Given the description of an element on the screen output the (x, y) to click on. 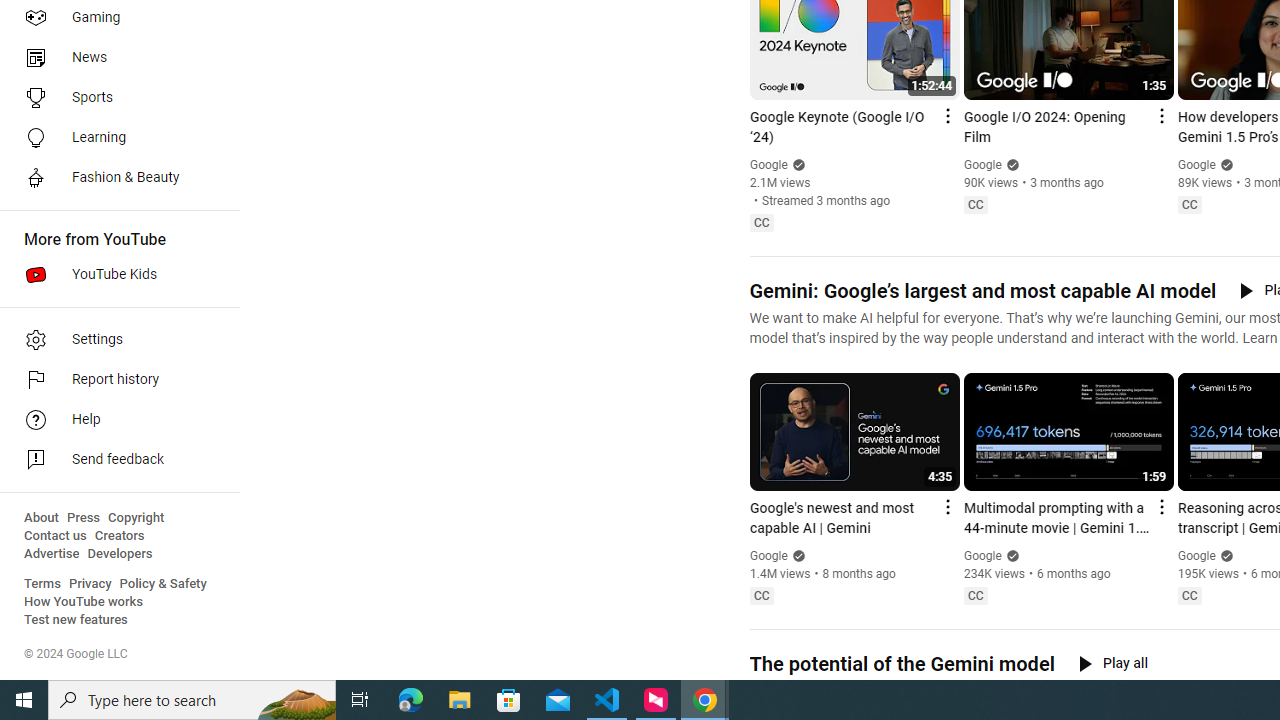
Advertise (51, 554)
Press (83, 518)
Terms (42, 584)
Play all (1113, 663)
Test new features (76, 620)
Developers (120, 554)
Creators (118, 536)
Send feedback (113, 459)
Report history (113, 380)
About (41, 518)
Google (1197, 556)
Fashion & Beauty (113, 177)
Settings (113, 339)
